Given the description of an element on the screen output the (x, y) to click on. 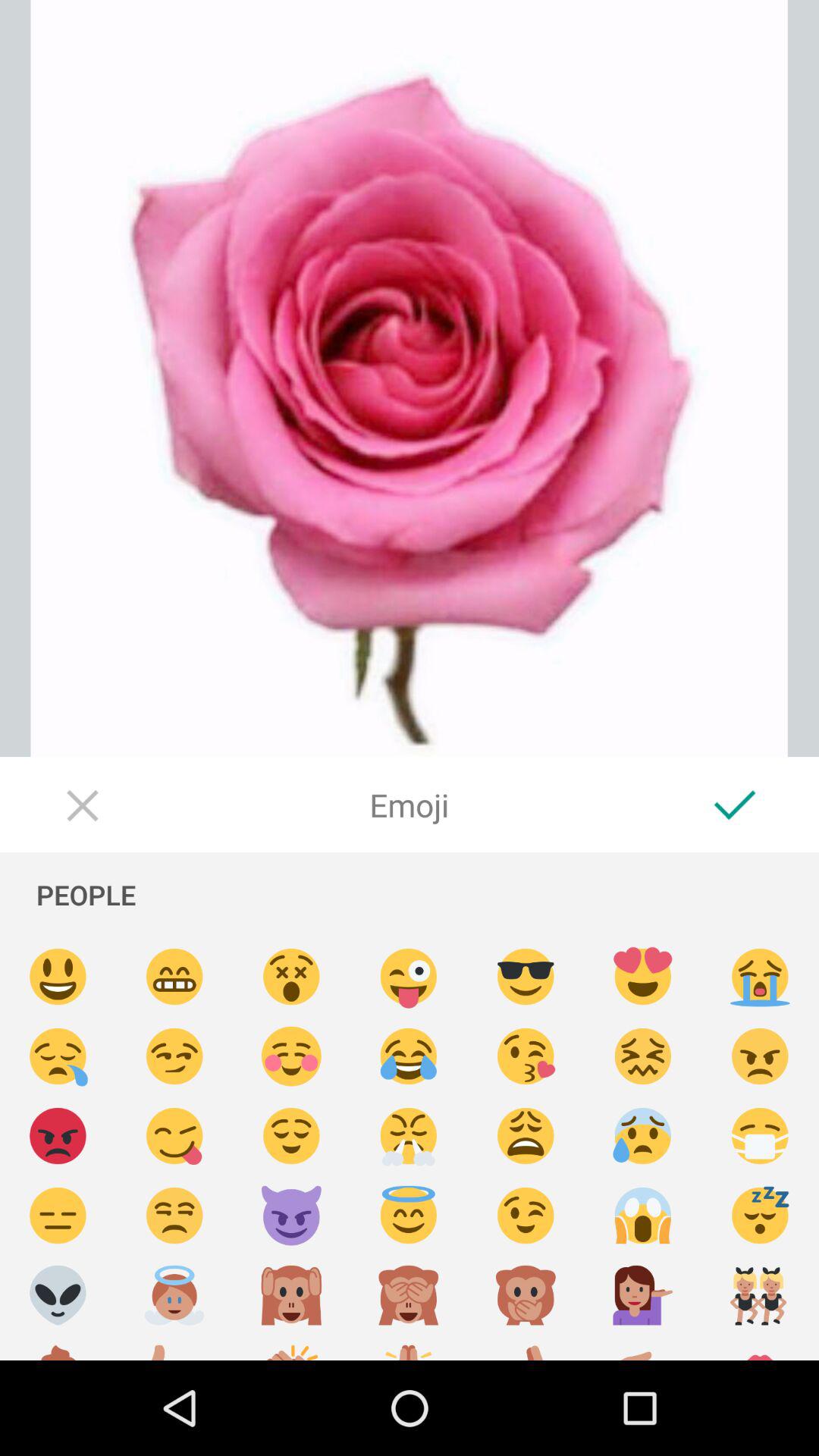
selects a crying emoji (58, 1056)
